Given the description of an element on the screen output the (x, y) to click on. 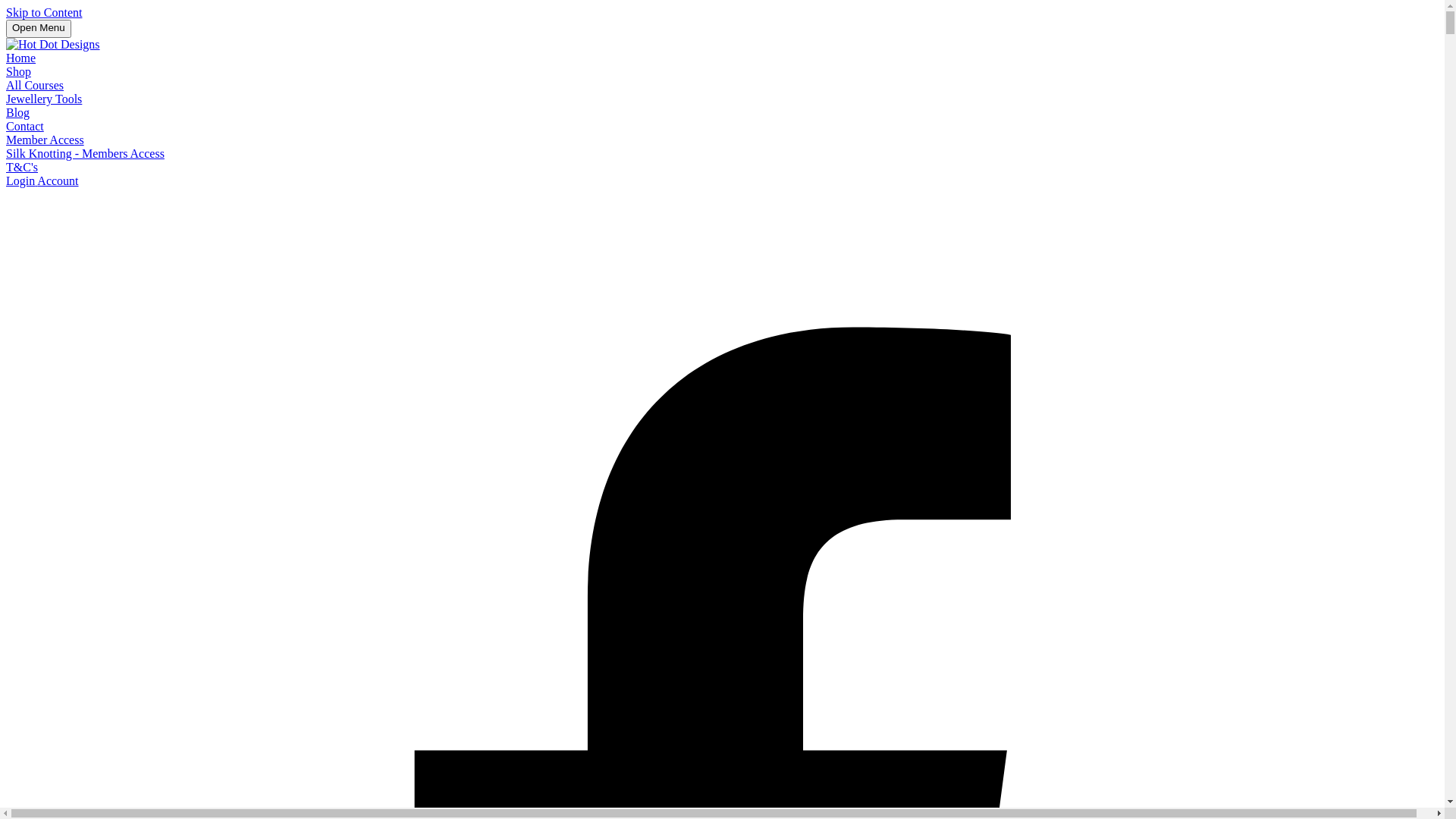
T&C's Element type: text (21, 166)
All Courses Element type: text (34, 84)
Home Element type: text (20, 57)
Contact Element type: text (24, 125)
Jewellery Tools Element type: text (43, 98)
Silk Knotting - Members Access Element type: text (85, 153)
Skip to Content Element type: text (43, 12)
Shop Element type: text (18, 71)
Blog Element type: text (17, 112)
Member Access Element type: text (45, 139)
Login Account Element type: text (42, 180)
Open Menu Element type: text (38, 28)
